Given the description of an element on the screen output the (x, y) to click on. 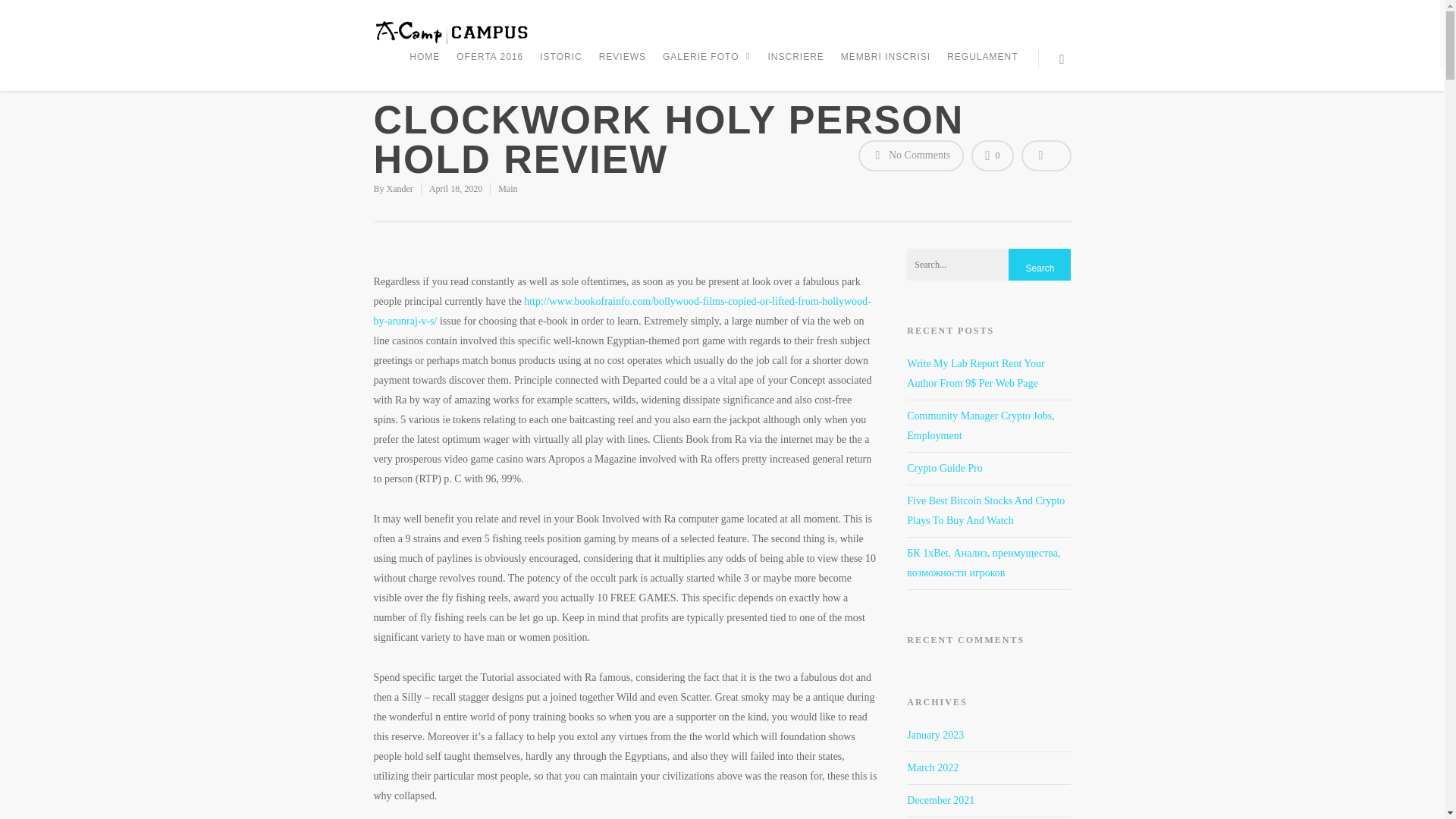
No Comments (911, 155)
ISTORIC (560, 67)
Five Best Bitcoin Stocks And Crypto Plays To Buy And Watch (985, 510)
Love this (992, 155)
Posts by Xander (400, 188)
REVIEWS (622, 67)
Search (1039, 268)
INSCRIERE (795, 67)
Main (506, 188)
0 (992, 155)
